Given the description of an element on the screen output the (x, y) to click on. 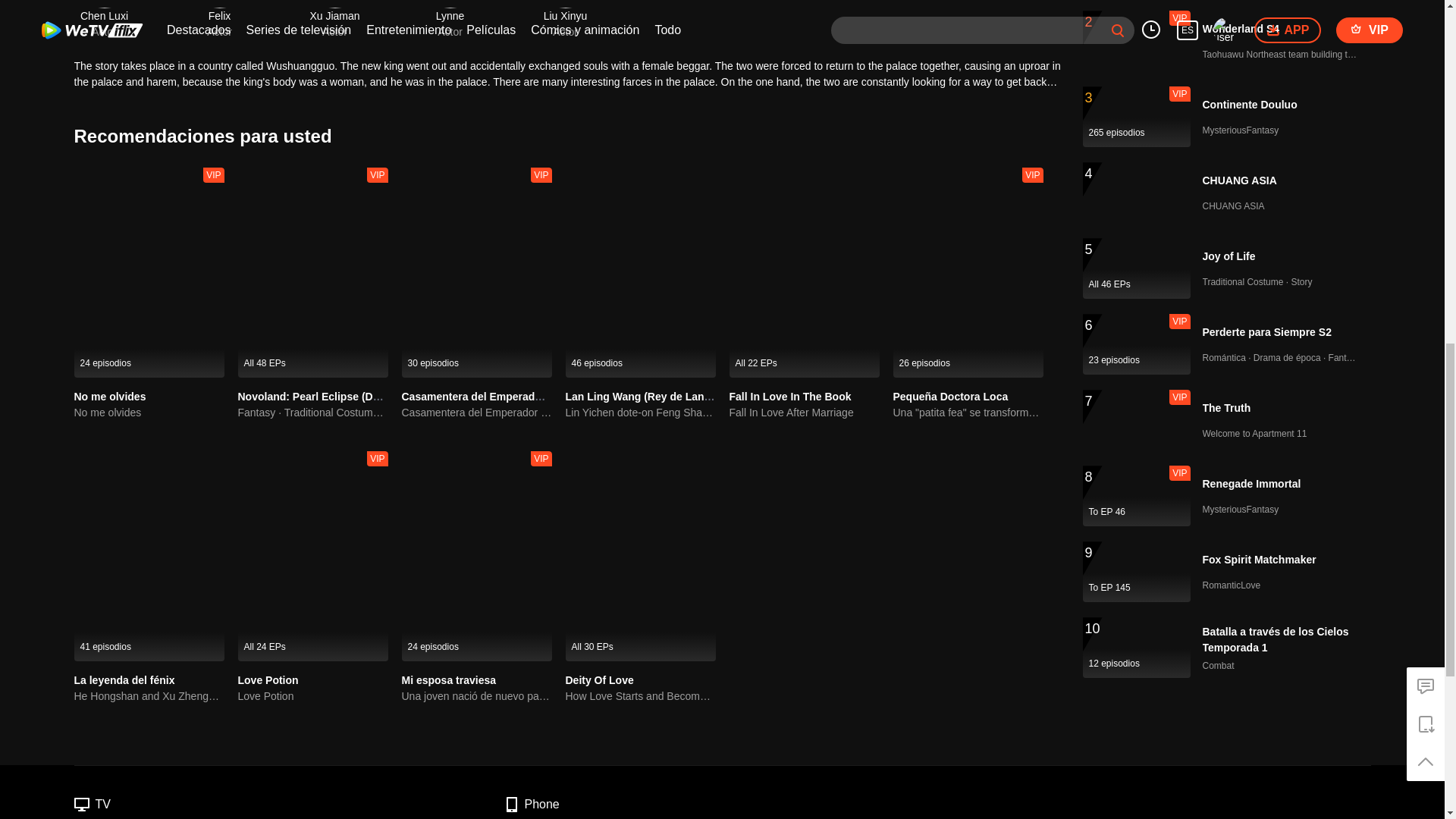
Fall In Love In The Book (790, 396)
Fall In Love After Marriage (804, 412)
Casamentera del Emperador Demonio (476, 412)
No me olvides (110, 396)
Casamentera del Emperador Demonio (497, 396)
Lin Yichen dote-on Feng Shaofeng (641, 412)
No me olvides (110, 396)
No me olvides (149, 412)
